Given the description of an element on the screen output the (x, y) to click on. 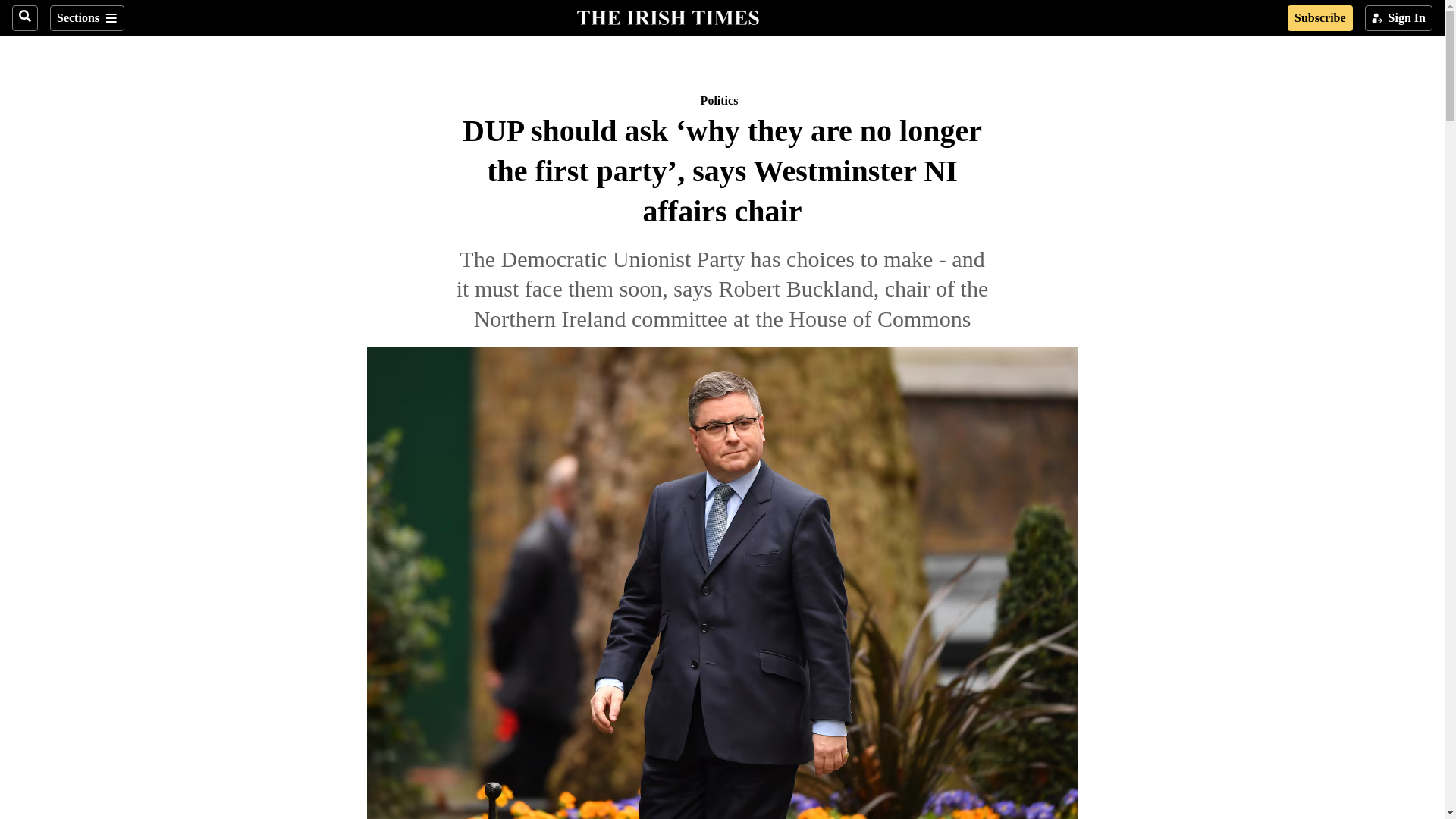
Sections (86, 17)
Sign In (1398, 17)
Subscribe (1319, 17)
The Irish Times (667, 16)
